Given the description of an element on the screen output the (x, y) to click on. 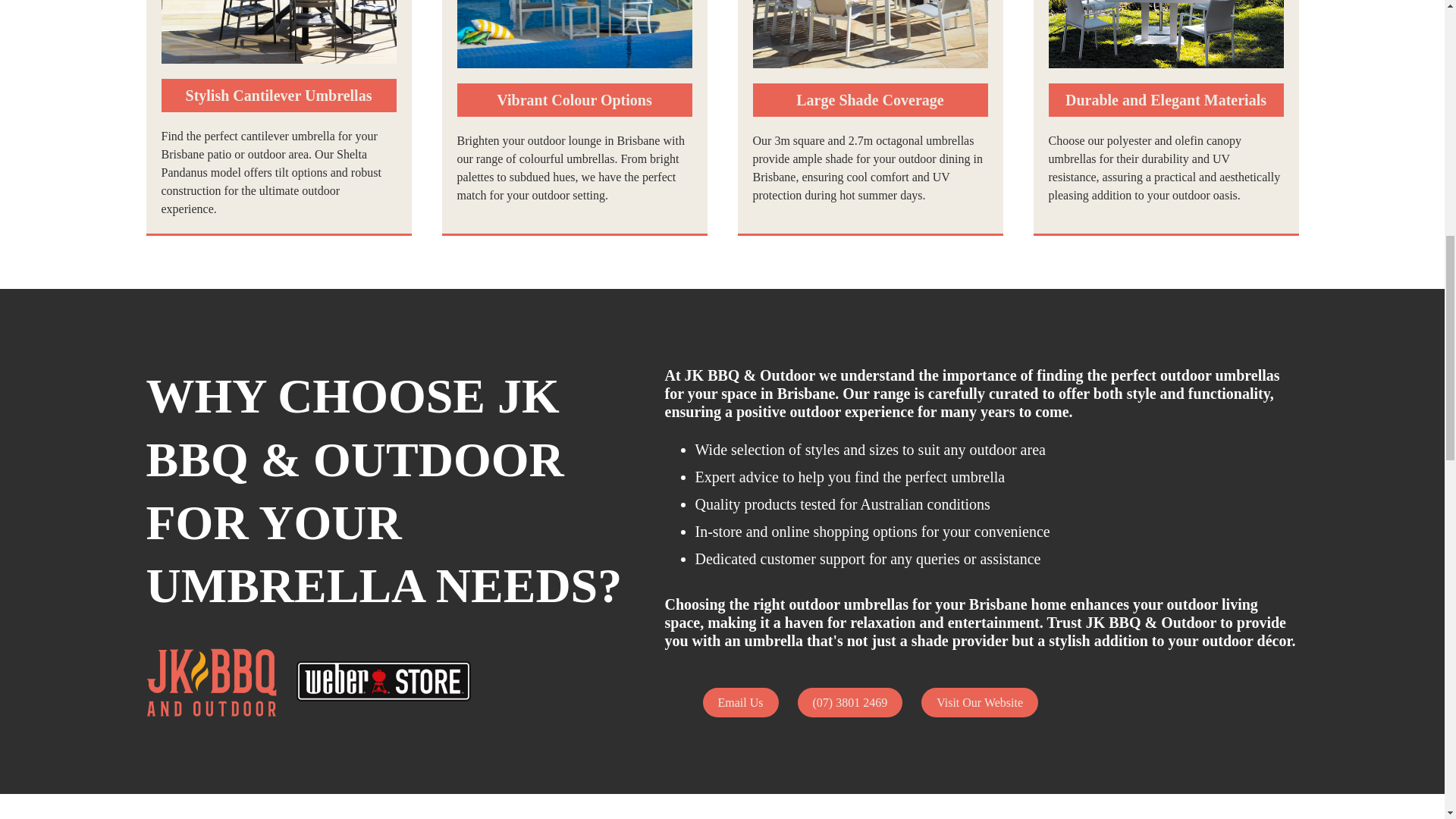
Visit Our Website (979, 702)
Email Us (739, 702)
Vibrant Colour Options (574, 100)
Durable and Elegant Materials (1165, 100)
Large Shade Coverage (869, 100)
Stylish Cantilever Umbrellas (278, 95)
